Given the description of an element on the screen output the (x, y) to click on. 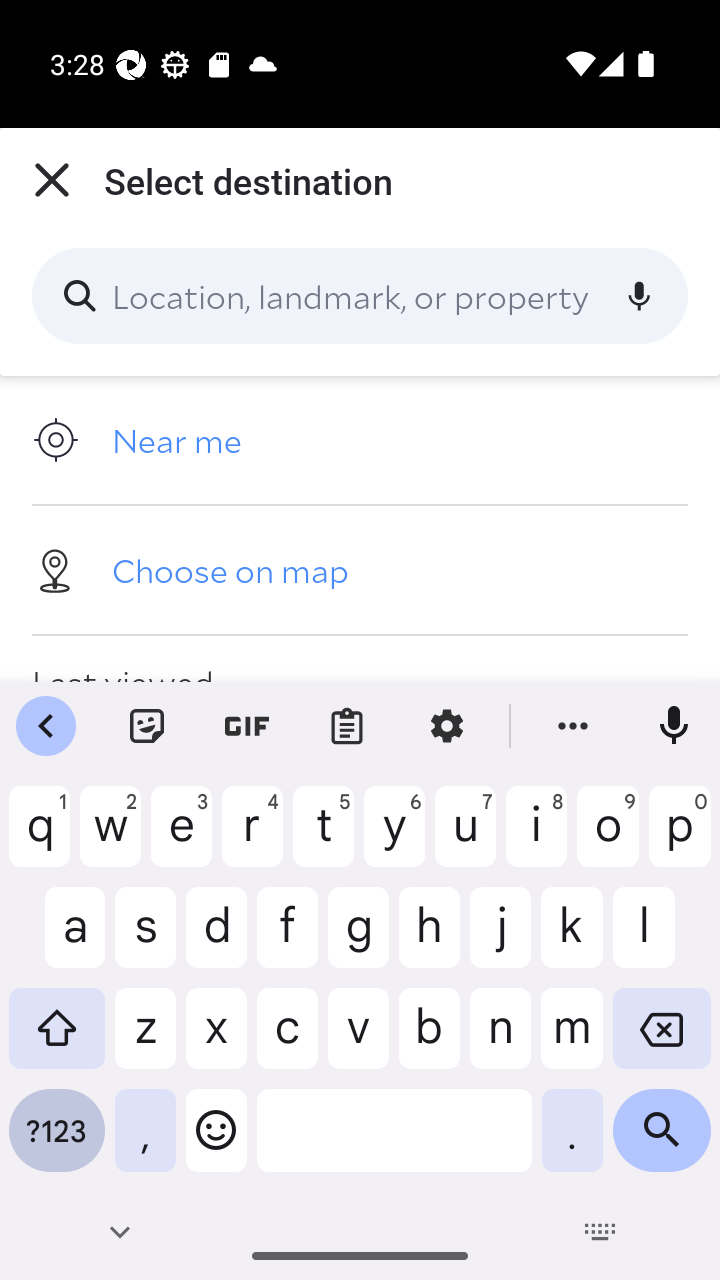
Location, landmark, or property (359, 296)
Near me (360, 440)
Choose on map (360, 569)
